Given the description of an element on the screen output the (x, y) to click on. 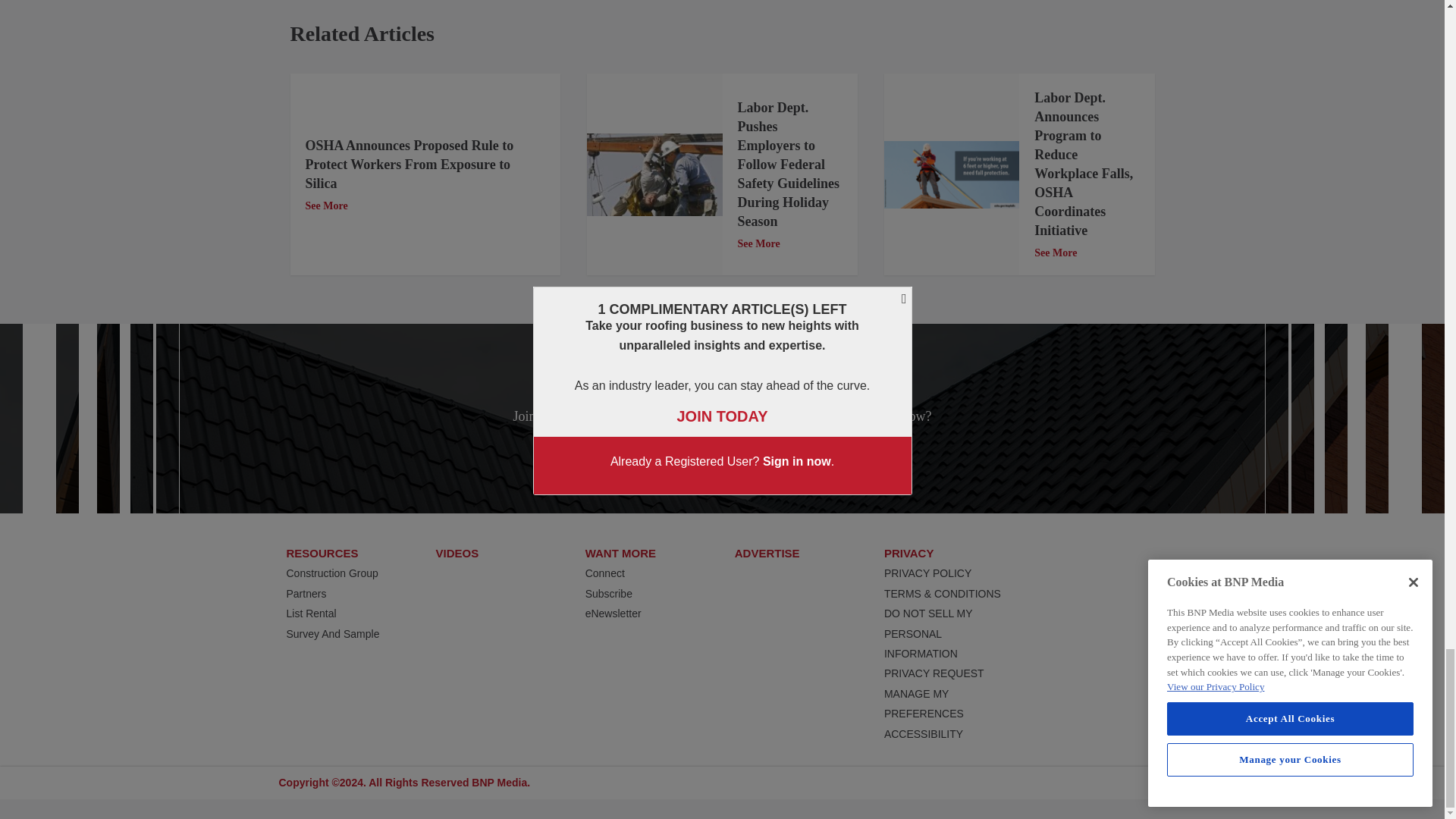
OSHA Holiday Safety Notice - RC- TOF.jpg (654, 174)
